Given the description of an element on the screen output the (x, y) to click on. 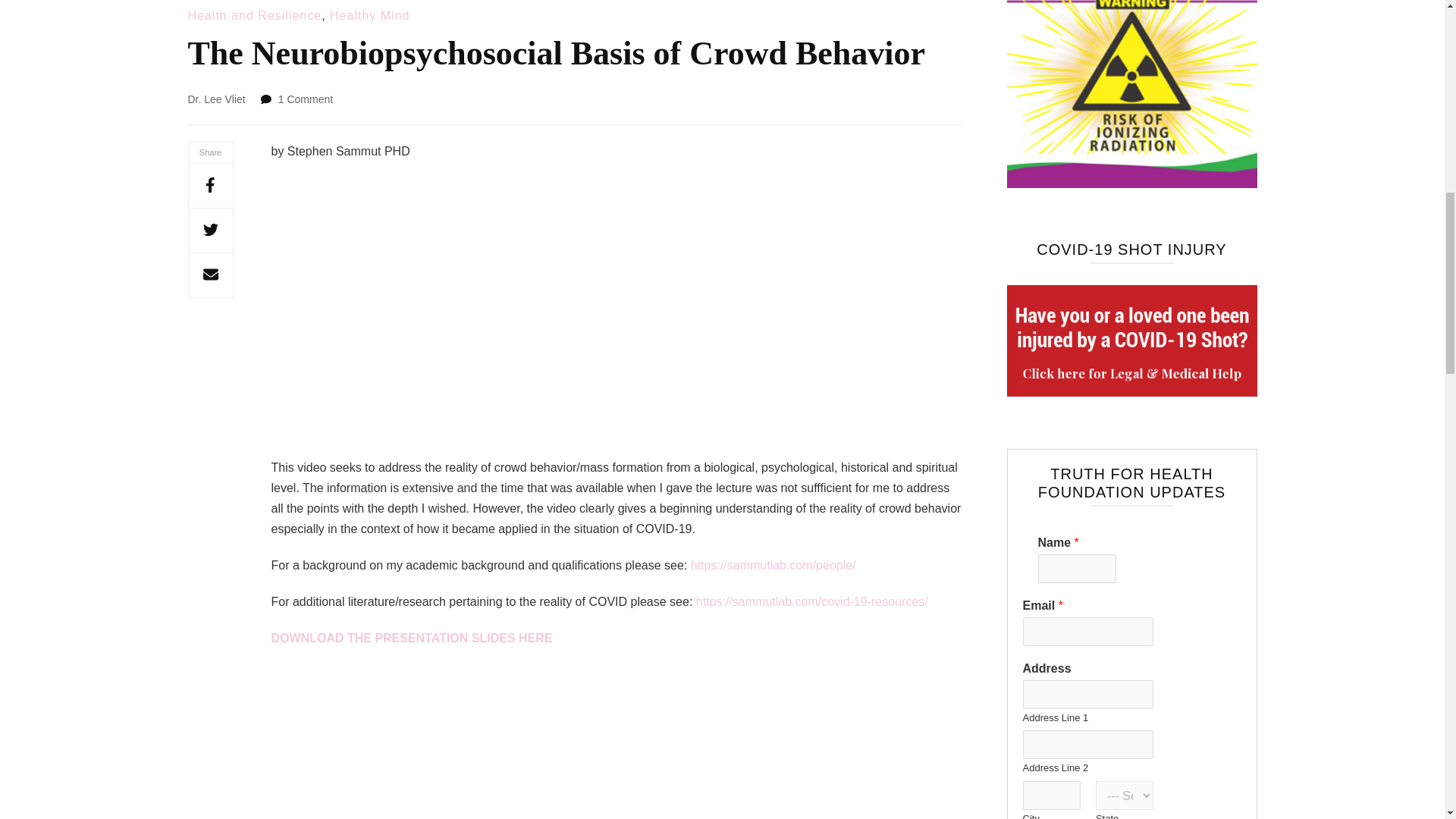
Radiation Guide Now Available (1132, 94)
Shop Truth For Health (1132, 340)
